Given the description of an element on the screen output the (x, y) to click on. 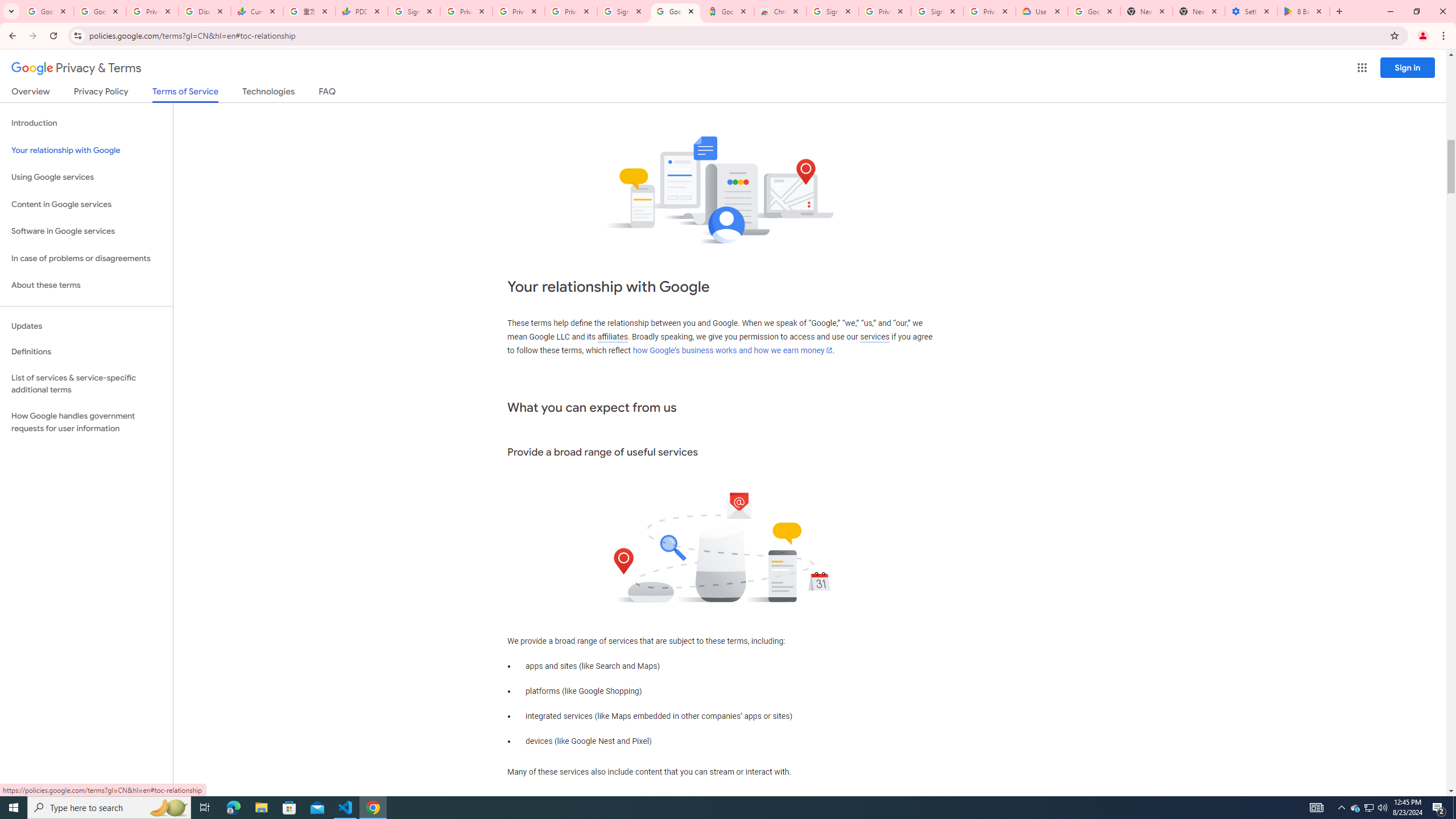
8 Ball Pool - Apps on Google Play (1303, 11)
Sign in - Google Accounts (413, 11)
Introduction (86, 122)
New Tab (1198, 11)
PDD Holdings Inc - ADR (PDD) Price & News - Google Finance (361, 11)
Your relationship with Google (86, 150)
Sign in - Google Accounts (623, 11)
